Given the description of an element on the screen output the (x, y) to click on. 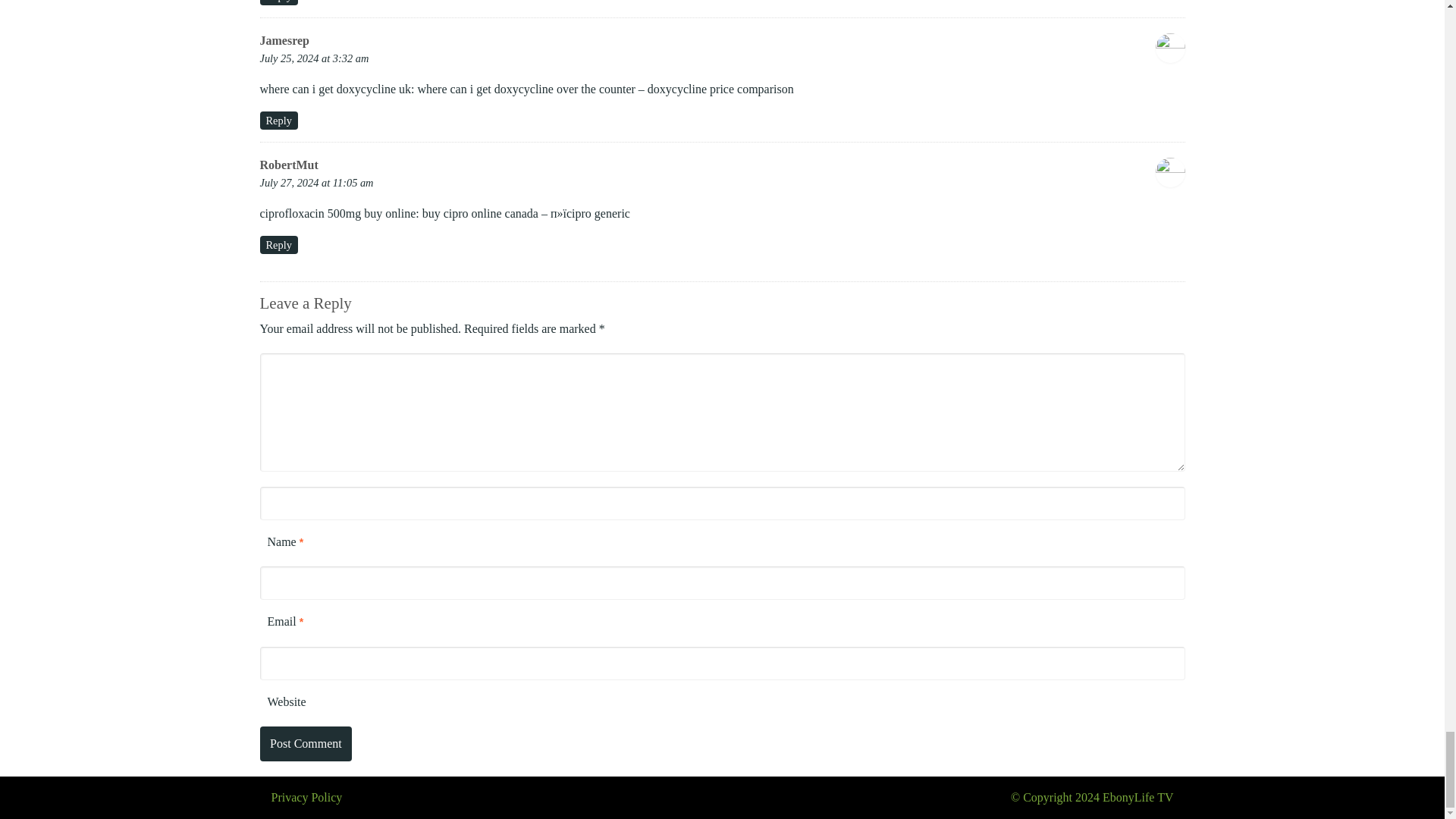
Post Comment (305, 743)
